Given the description of an element on the screen output the (x, y) to click on. 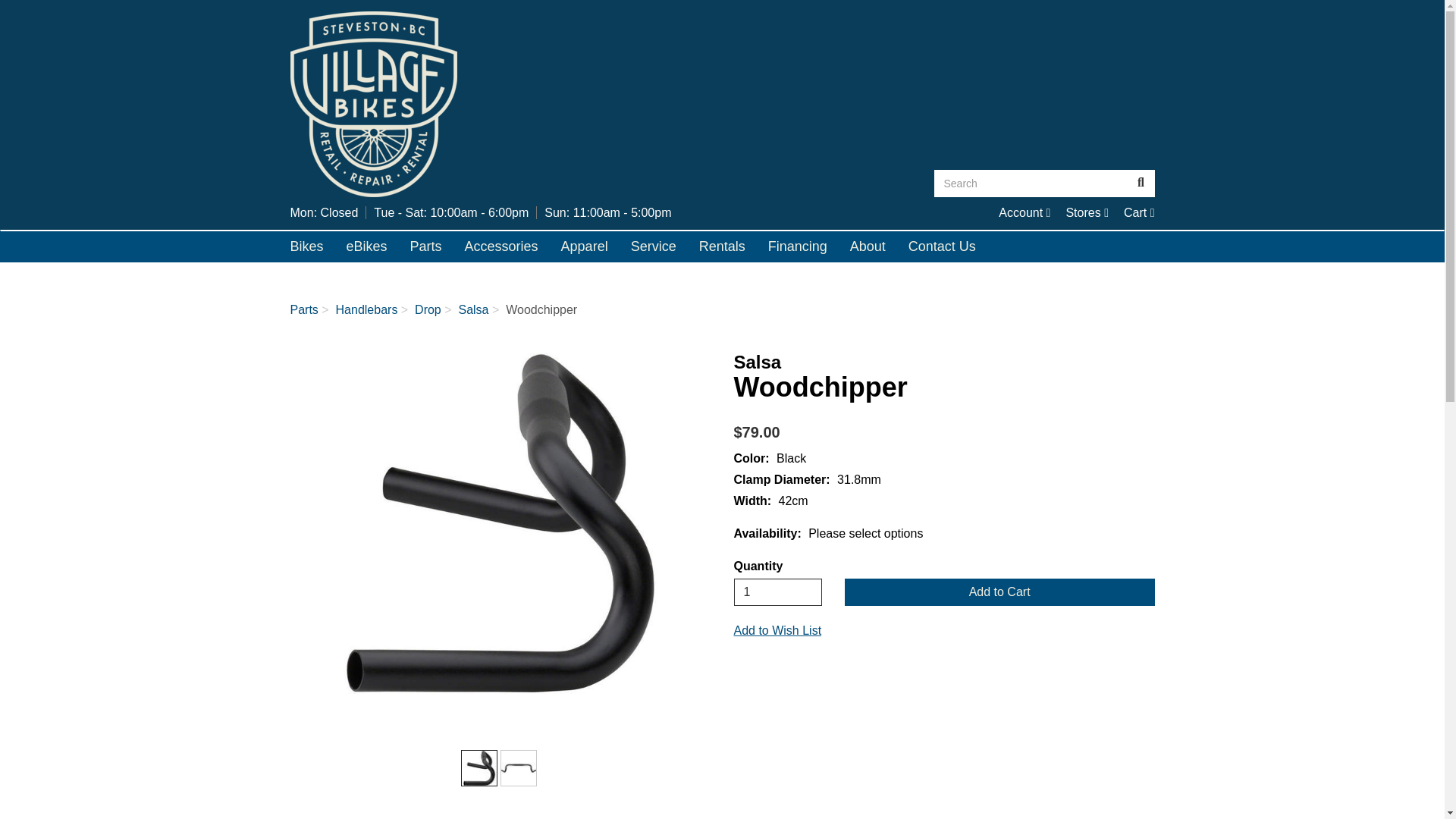
1 (1086, 212)
Salsa Woodchipper  (777, 592)
Color: Black (500, 522)
Account (478, 768)
Cart (1023, 212)
Search (1139, 212)
Stores (1139, 212)
